Given the description of an element on the screen output the (x, y) to click on. 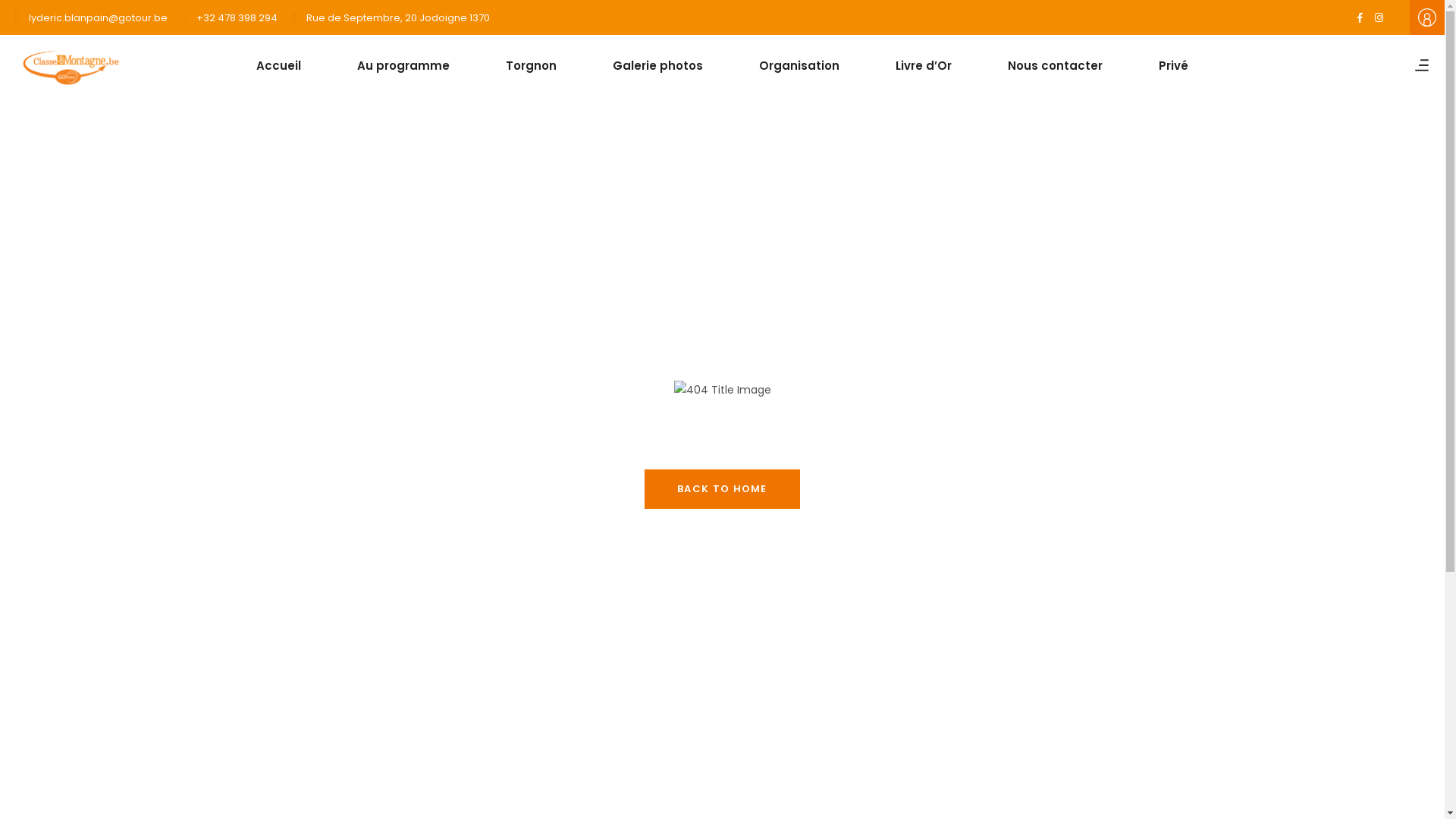
Accueil Element type: text (278, 65)
Nous contacter Element type: text (1054, 65)
Torgnon Element type: text (530, 65)
Organisation Element type: text (799, 65)
BACK TO HOME Element type: text (722, 488)
Galerie photos Element type: text (657, 65)
+32 478 398 294 Element type: text (229, 17)
Au programme Element type: text (403, 65)
lyderic.blanpain@gotour.be Element type: text (91, 17)
Rue de Septembre, 20 Jodoigne 1370 Element type: text (390, 17)
